Given the description of an element on the screen output the (x, y) to click on. 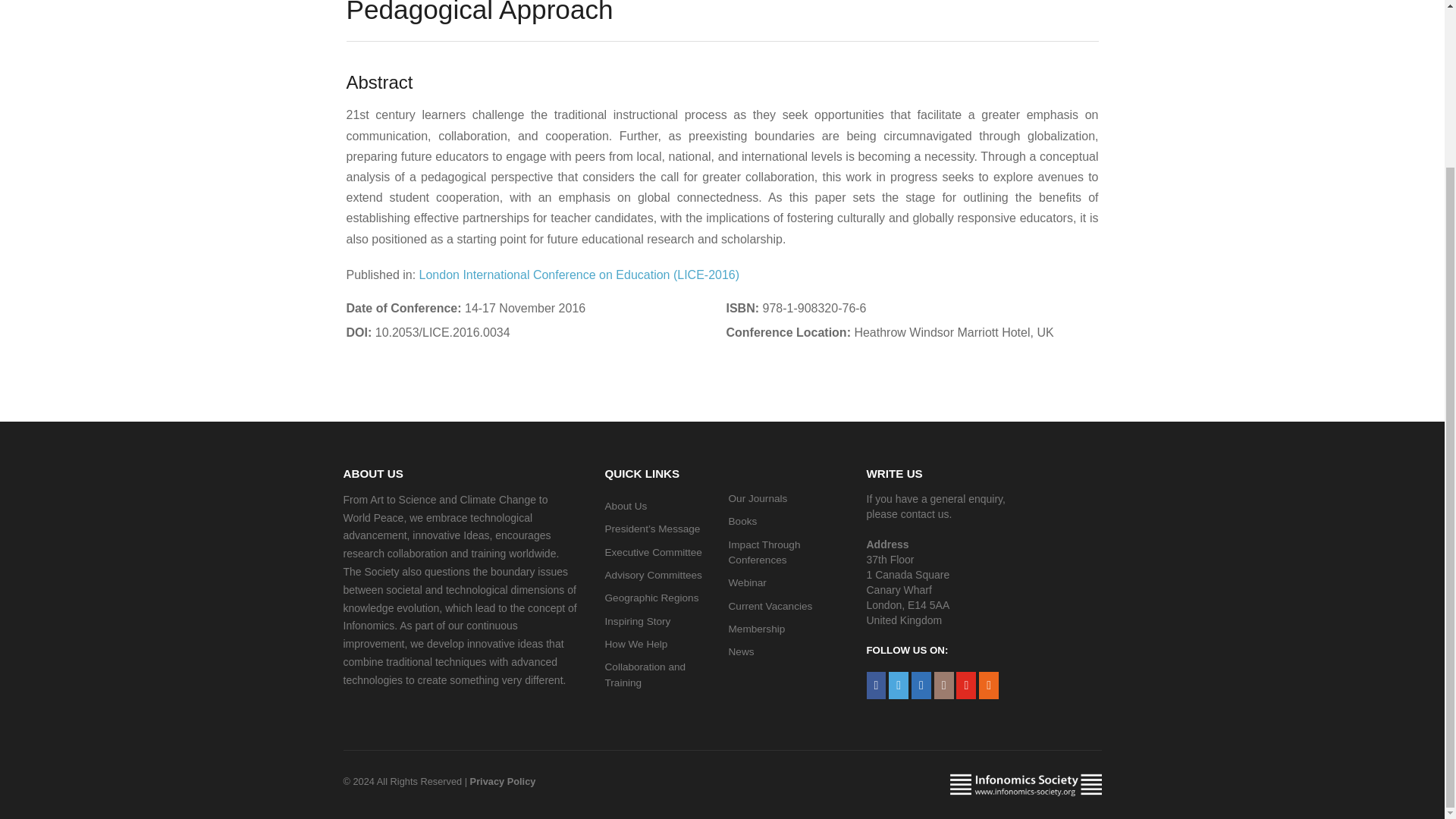
Executive Committee (653, 552)
About Us (626, 505)
Privacy Policy (502, 781)
Advisory Committees (653, 574)
